Given the description of an element on the screen output the (x, y) to click on. 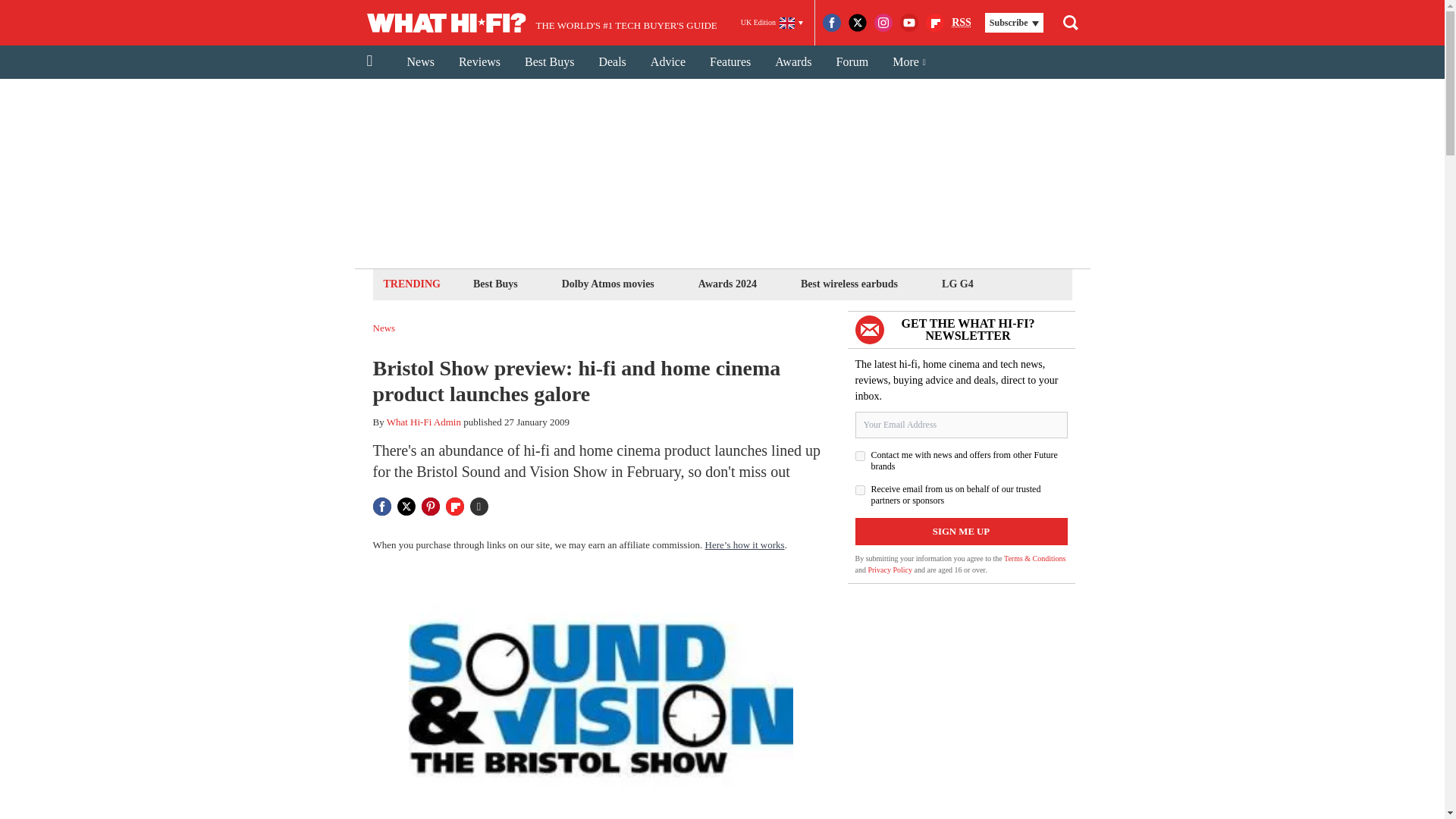
News (419, 61)
Features (729, 61)
on (860, 456)
Best Buys (549, 61)
Sign me up (961, 531)
Awards 2024 (727, 283)
Forum (852, 61)
LG G4 (957, 283)
Best Buys (494, 283)
Reviews (479, 61)
What Hi-Fi Admin (424, 421)
Advice (668, 61)
Deals (611, 61)
RSS (961, 22)
Dolby Atmos movies (607, 283)
